Given the description of an element on the screen output the (x, y) to click on. 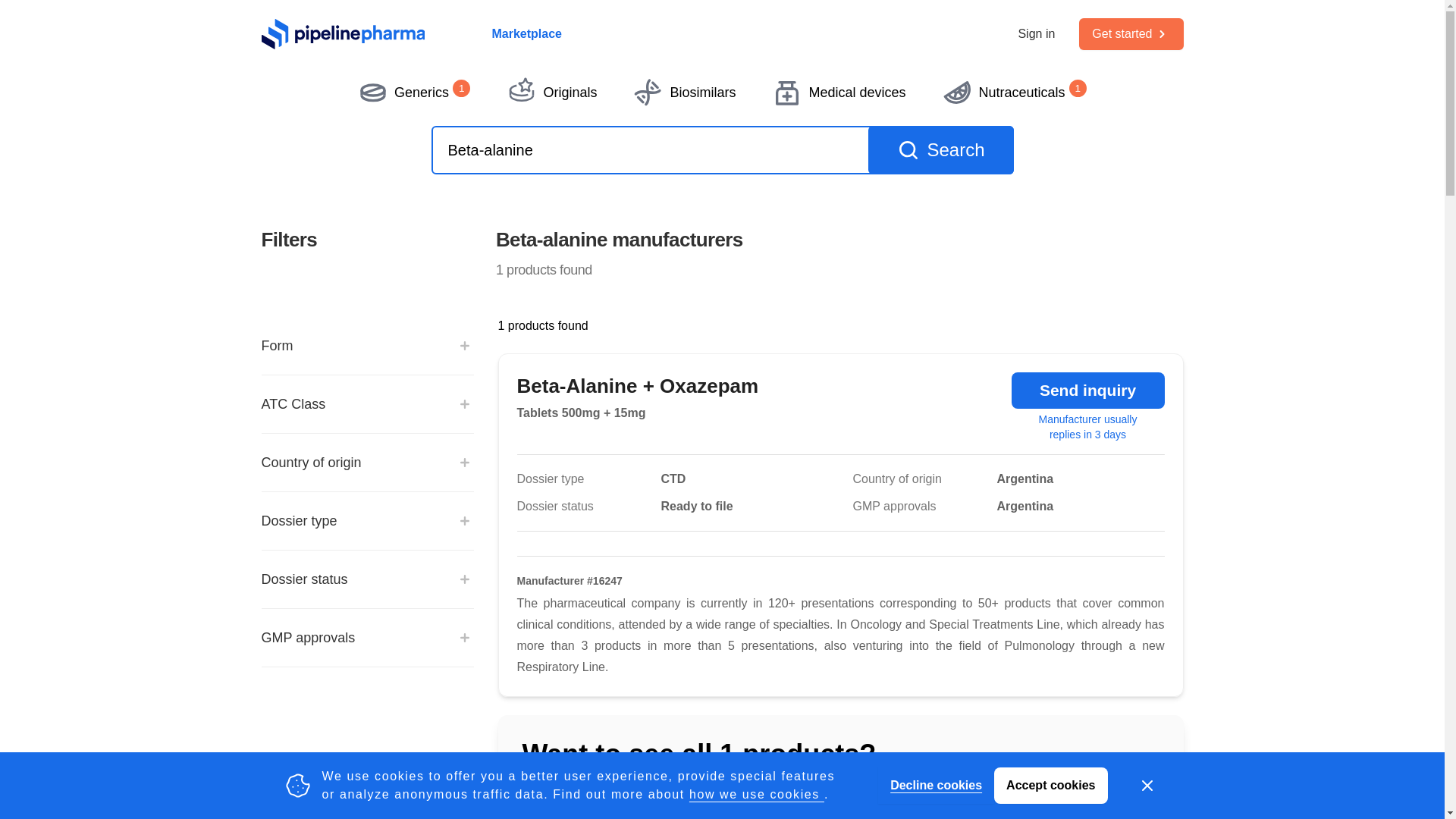
Marketplace (527, 34)
Sign in (1035, 34)
Argentina (1065, 479)
Get started (1130, 33)
Search (940, 150)
PipelinePharma Logo (342, 33)
Beta-alanine (721, 150)
